Given the description of an element on the screen output the (x, y) to click on. 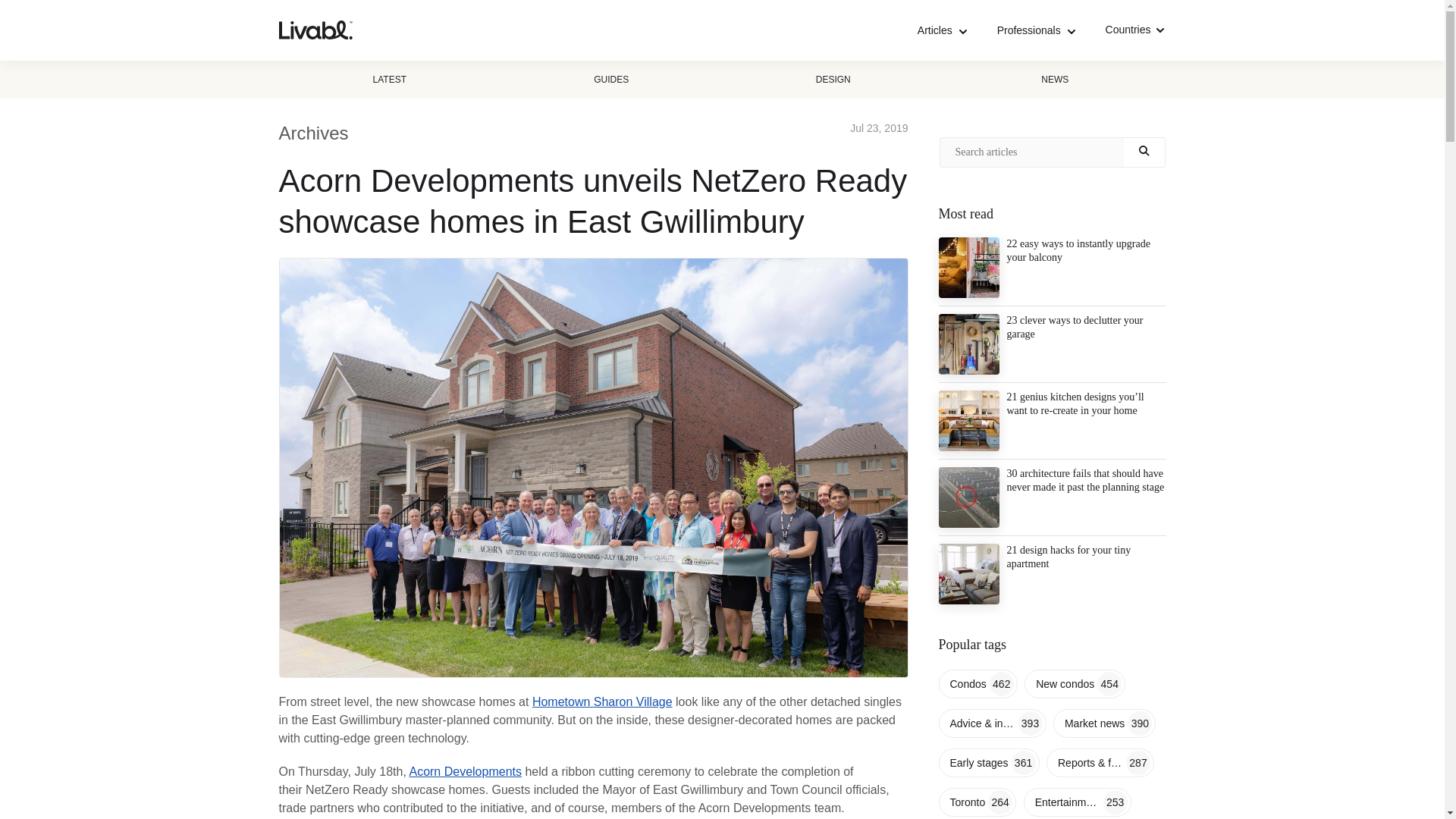
NEWS (1054, 79)
Articles (941, 30)
GUIDES (611, 79)
Professionals (1036, 30)
LATEST (389, 79)
DESIGN (832, 79)
